Given the description of an element on the screen output the (x, y) to click on. 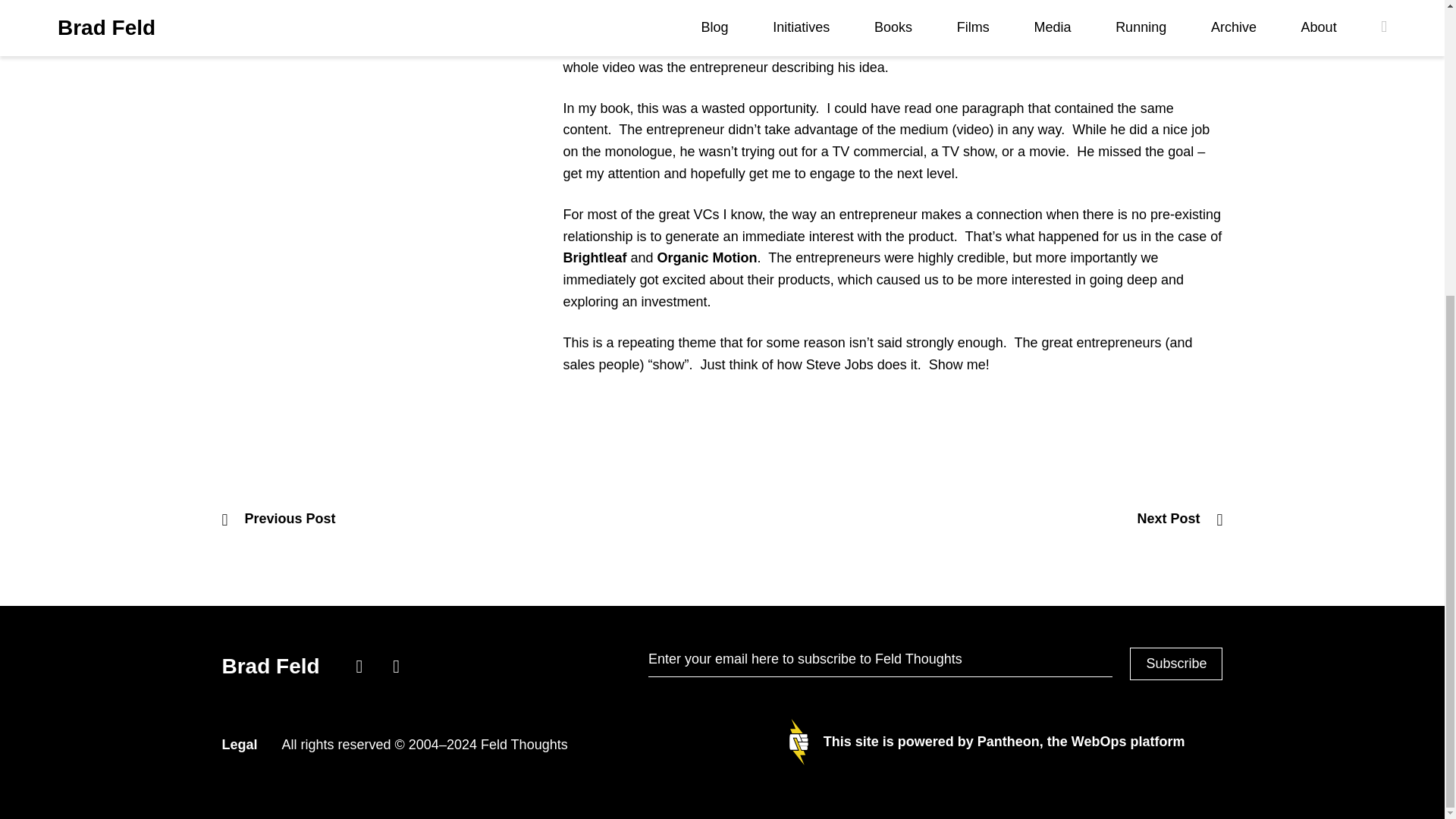
Previous Post (277, 518)
Brad Feld (272, 666)
Legal (239, 744)
Brightleaf (594, 257)
Organic Motion (707, 257)
Next Post (1180, 518)
Subscribe (1176, 663)
This site is powered by Pantheon, the WebOps platform (987, 741)
